Given the description of an element on the screen output the (x, y) to click on. 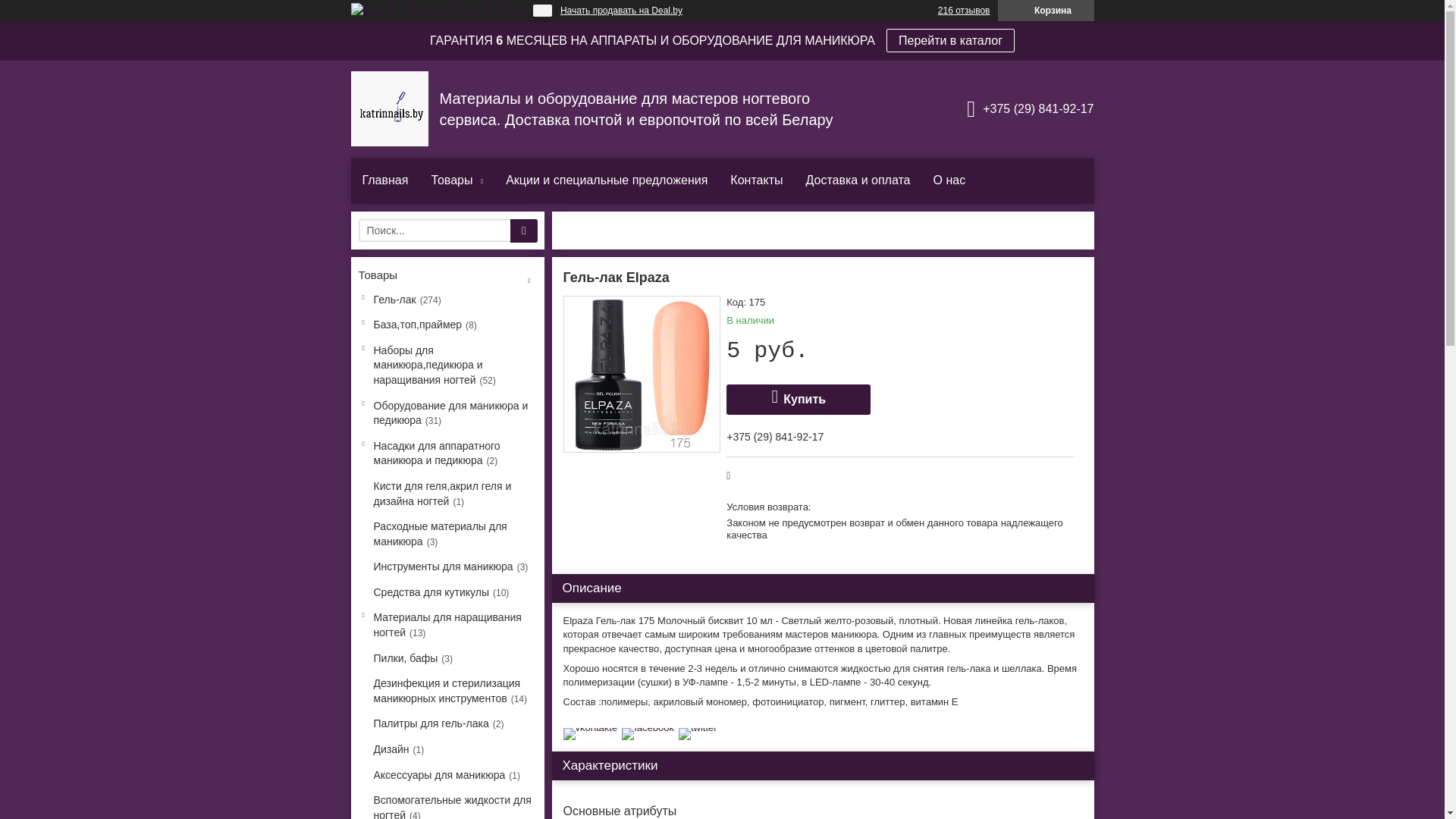
twitter Element type: hover (697, 727)
facebook Element type: hover (647, 727)
